Given the description of an element on the screen output the (x, y) to click on. 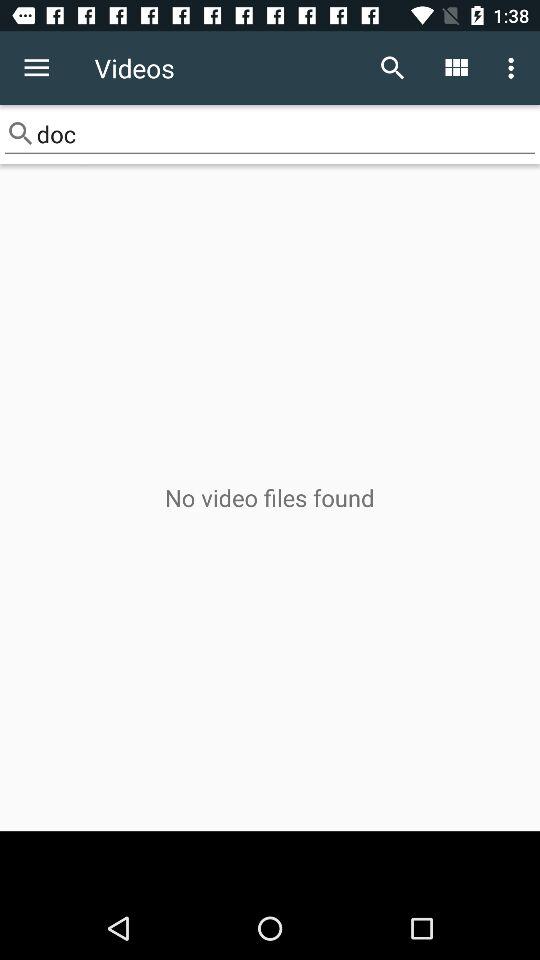
choose icon above doc item (513, 67)
